Given the description of an element on the screen output the (x, y) to click on. 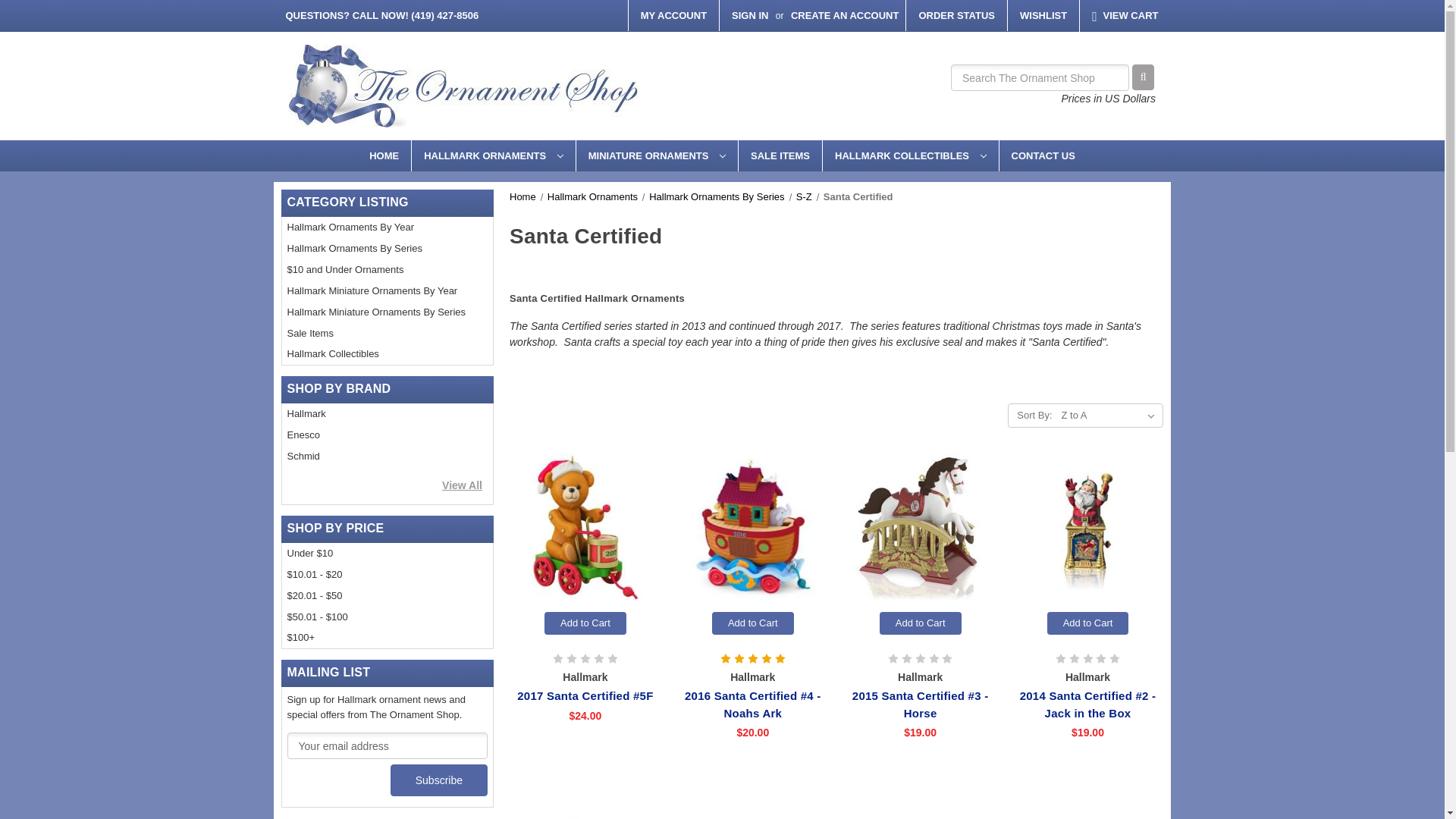
HALLMARK ORNAMENTS (493, 155)
The Ornament Shop (463, 86)
SIGN IN (749, 15)
HALLMARK COLLECTIBLES (910, 155)
Subscribe (438, 780)
SALE ITEMS (780, 155)
Hallmark Ornaments By Series (387, 248)
MY ACCOUNT (673, 15)
WISHLIST (1042, 15)
HOME (383, 155)
Hallmark Miniature Ornaments By Series (387, 312)
VIEW CART (1125, 15)
Sale Items (387, 332)
Hallmark Ornaments By Year (387, 227)
CREATE AN ACCOUNT (844, 15)
